Given the description of an element on the screen output the (x, y) to click on. 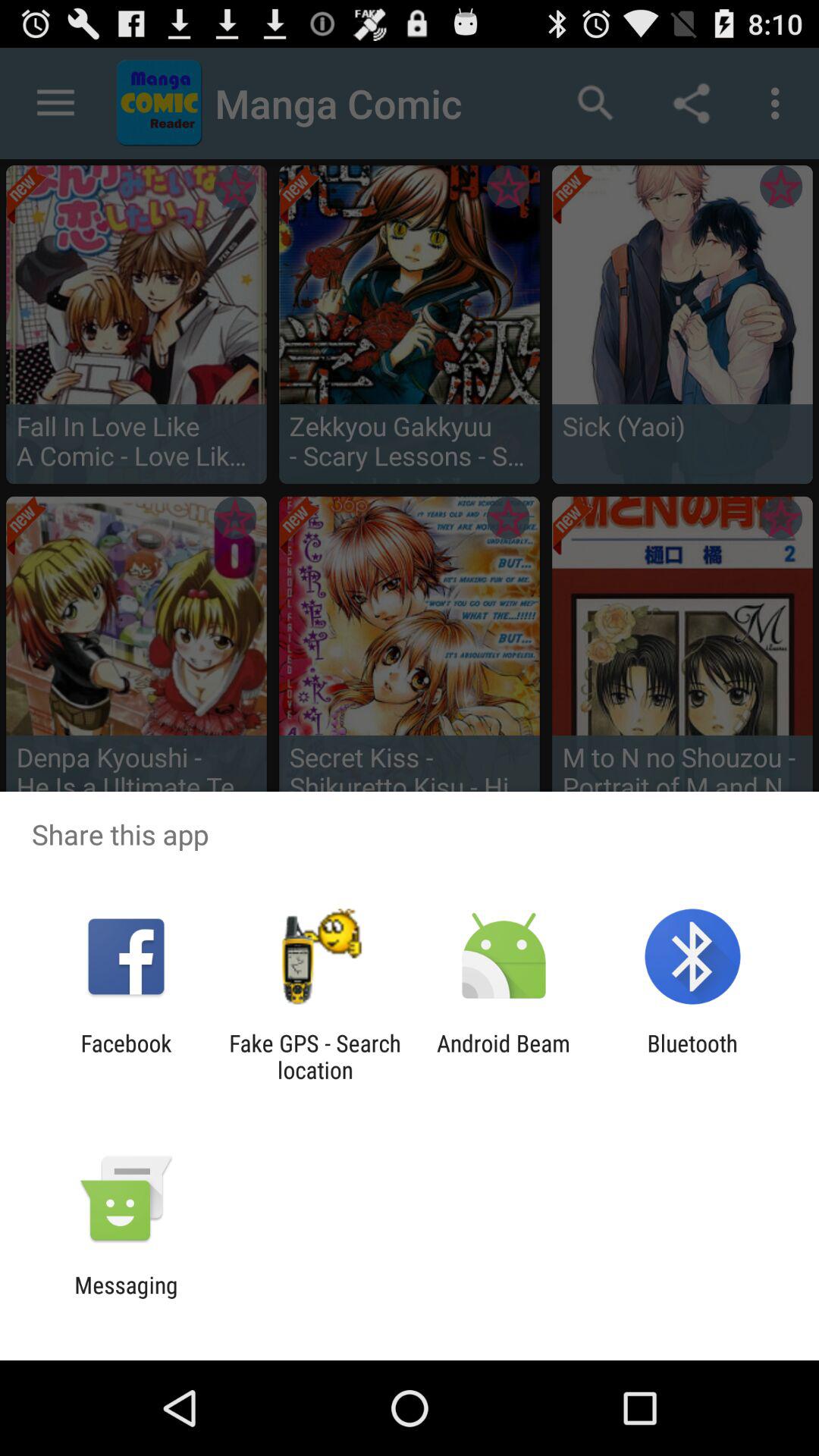
tap android beam icon (503, 1056)
